Given the description of an element on the screen output the (x, y) to click on. 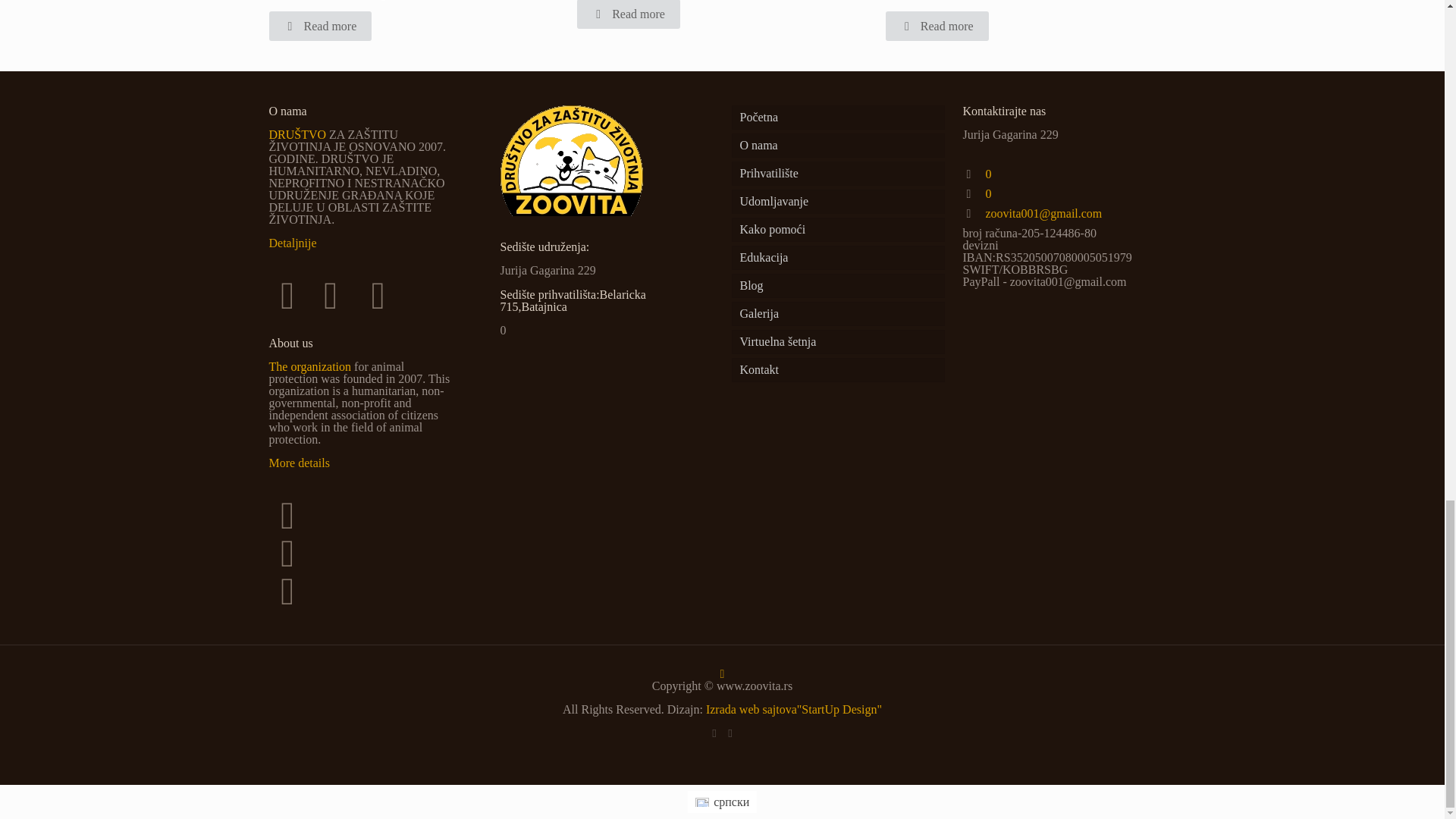
Read more (936, 25)
More details (298, 462)
Read more (627, 14)
Detaljnije (291, 242)
O nama (836, 145)
Facebook (713, 733)
Read more (319, 25)
Instagram (730, 733)
